Given the description of an element on the screen output the (x, y) to click on. 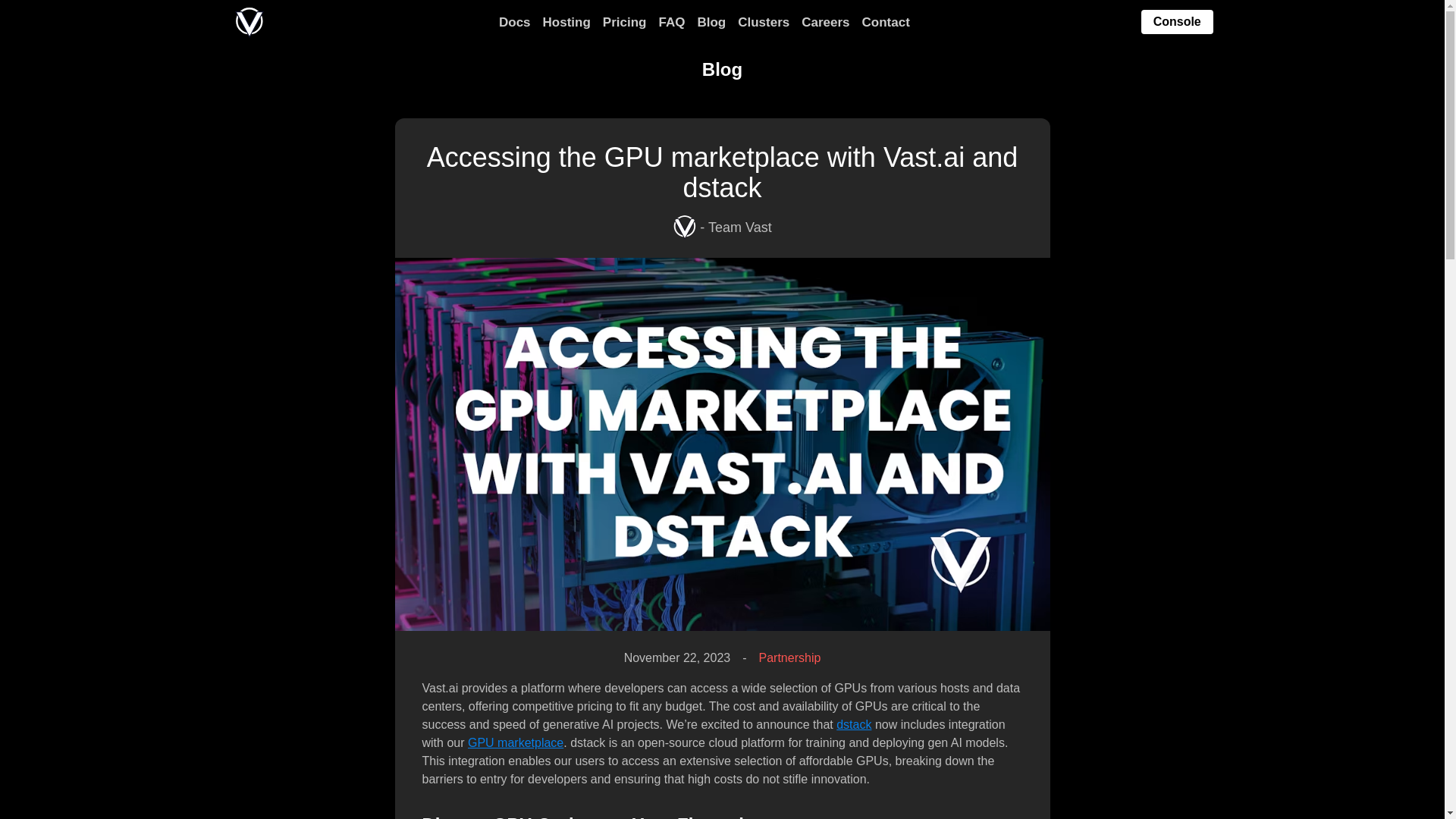
Console (1176, 22)
Docs (515, 22)
GPU marketplace (515, 742)
FAQ (671, 22)
Hosting (567, 22)
Contact (885, 22)
Careers (825, 22)
dstack (852, 724)
Blog (711, 22)
Clusters (763, 22)
Partnership (789, 658)
Vast AI (249, 22)
Console (1176, 21)
Pricing (624, 22)
